Given the description of an element on the screen output the (x, y) to click on. 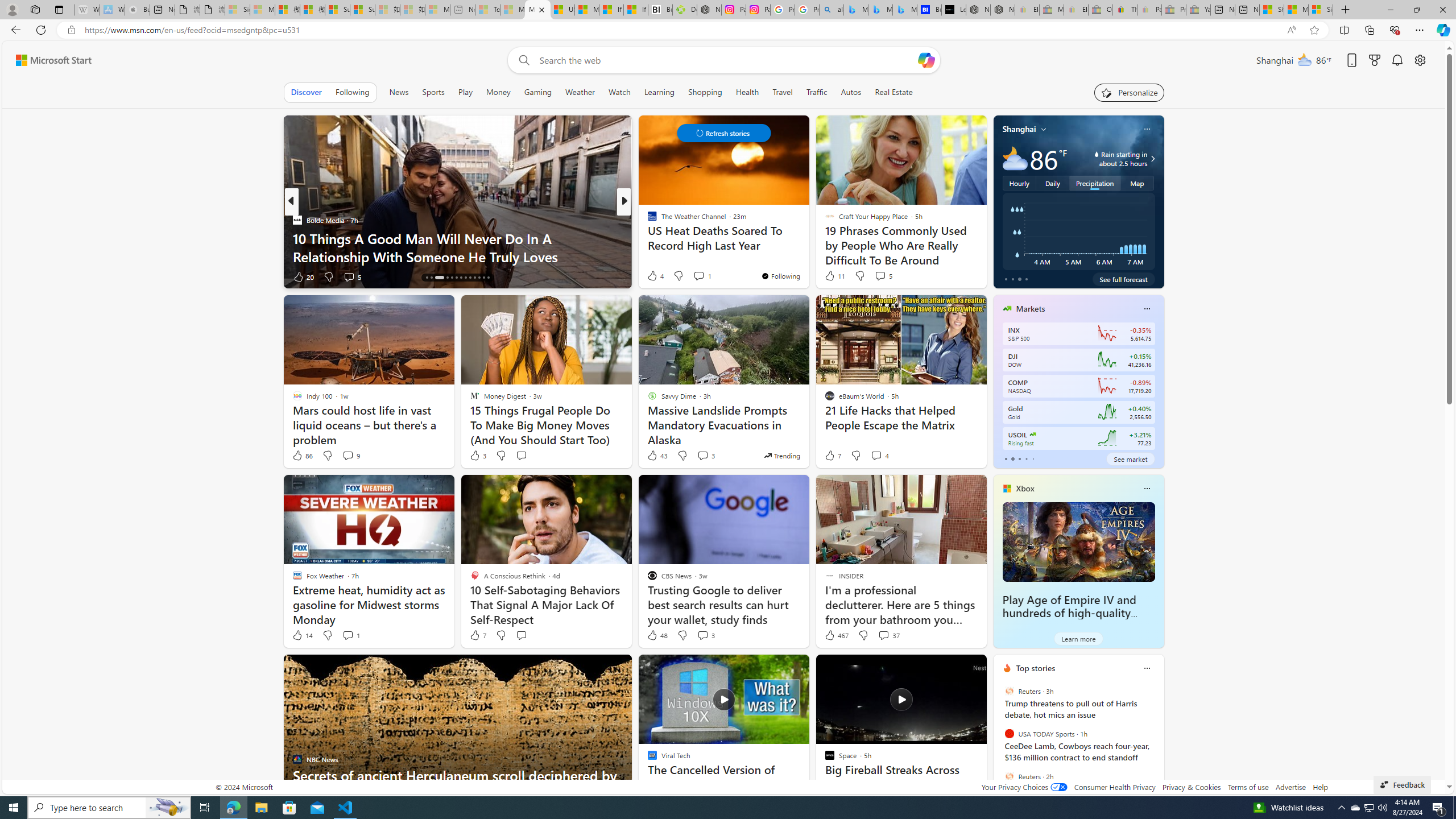
View comments 3 Comment (705, 634)
The Register (647, 238)
Class: control (723, 132)
Groovy Era (647, 238)
View comments 4 Comment (876, 455)
AutomationID: tab-24 (478, 277)
Class: weather-arrow-glyph (1152, 158)
View comments 1 Comment (350, 634)
